Given the description of an element on the screen output the (x, y) to click on. 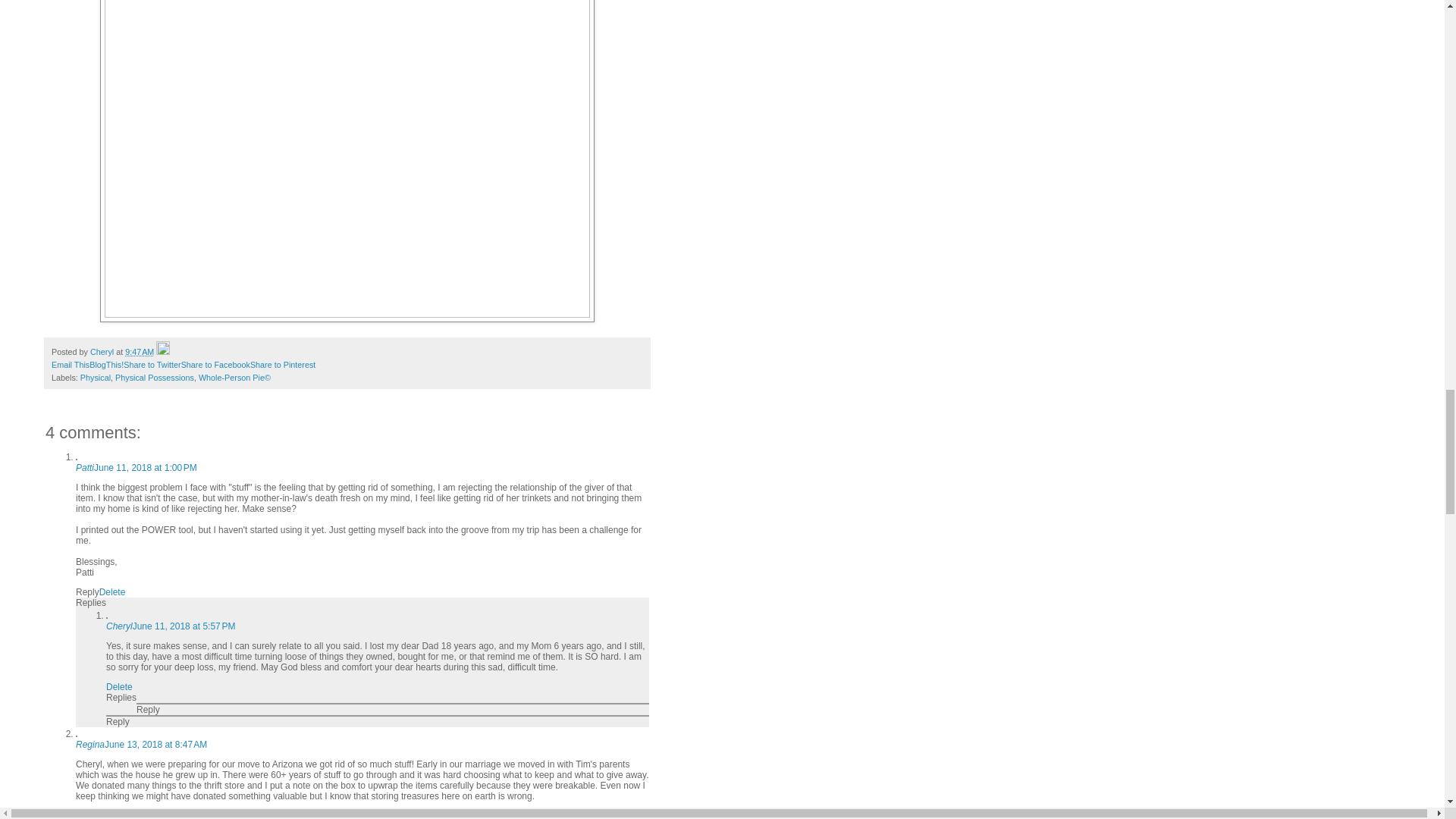
Share to Pinterest (282, 364)
Cheryl (119, 625)
Share to Pinterest (282, 364)
Cheryl (103, 351)
Share to Facebook (215, 364)
Reply (87, 592)
BlogThis! (105, 364)
Share to Twitter (151, 364)
permanent link (139, 351)
BlogThis! (105, 364)
Replies (90, 602)
Delete (112, 592)
Share to Facebook (215, 364)
